Given the description of an element on the screen output the (x, y) to click on. 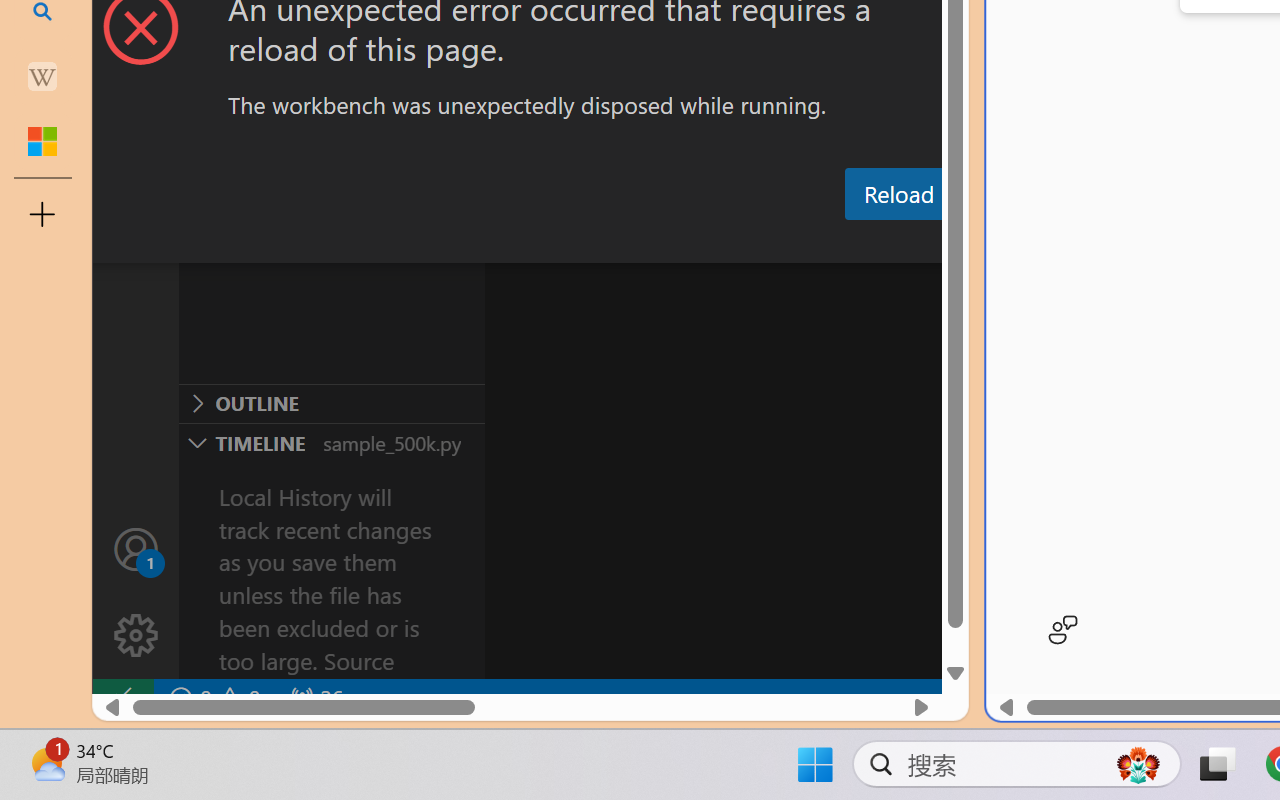
remote (122, 698)
No Problems (212, 698)
Debug Console (Ctrl+Shift+Y) (854, 243)
Accounts - Sign in requested (135, 548)
Timeline Section (331, 442)
